Given the description of an element on the screen output the (x, y) to click on. 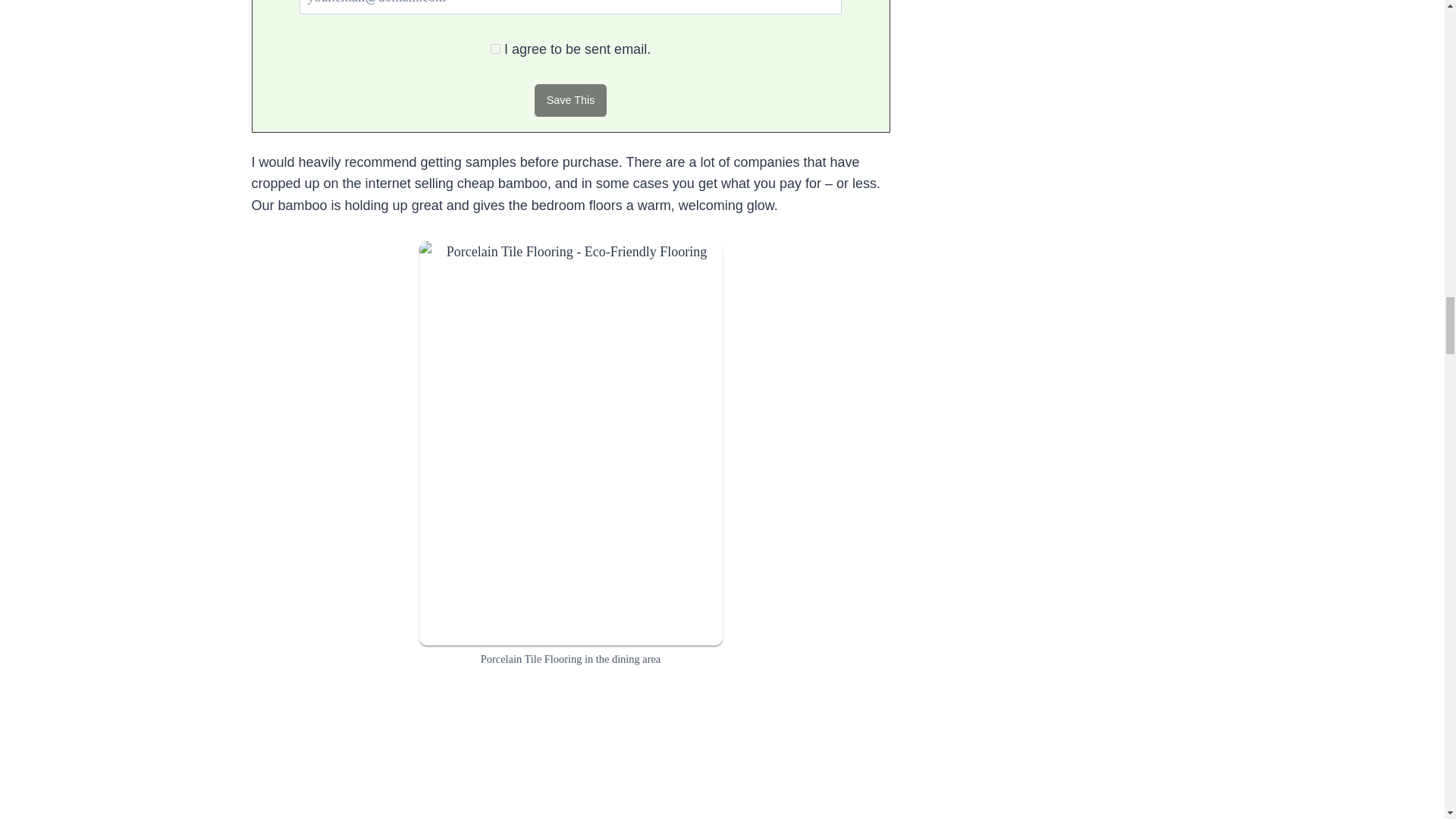
Save This (570, 100)
Save This (570, 100)
1 (495, 49)
